Given the description of an element on the screen output the (x, y) to click on. 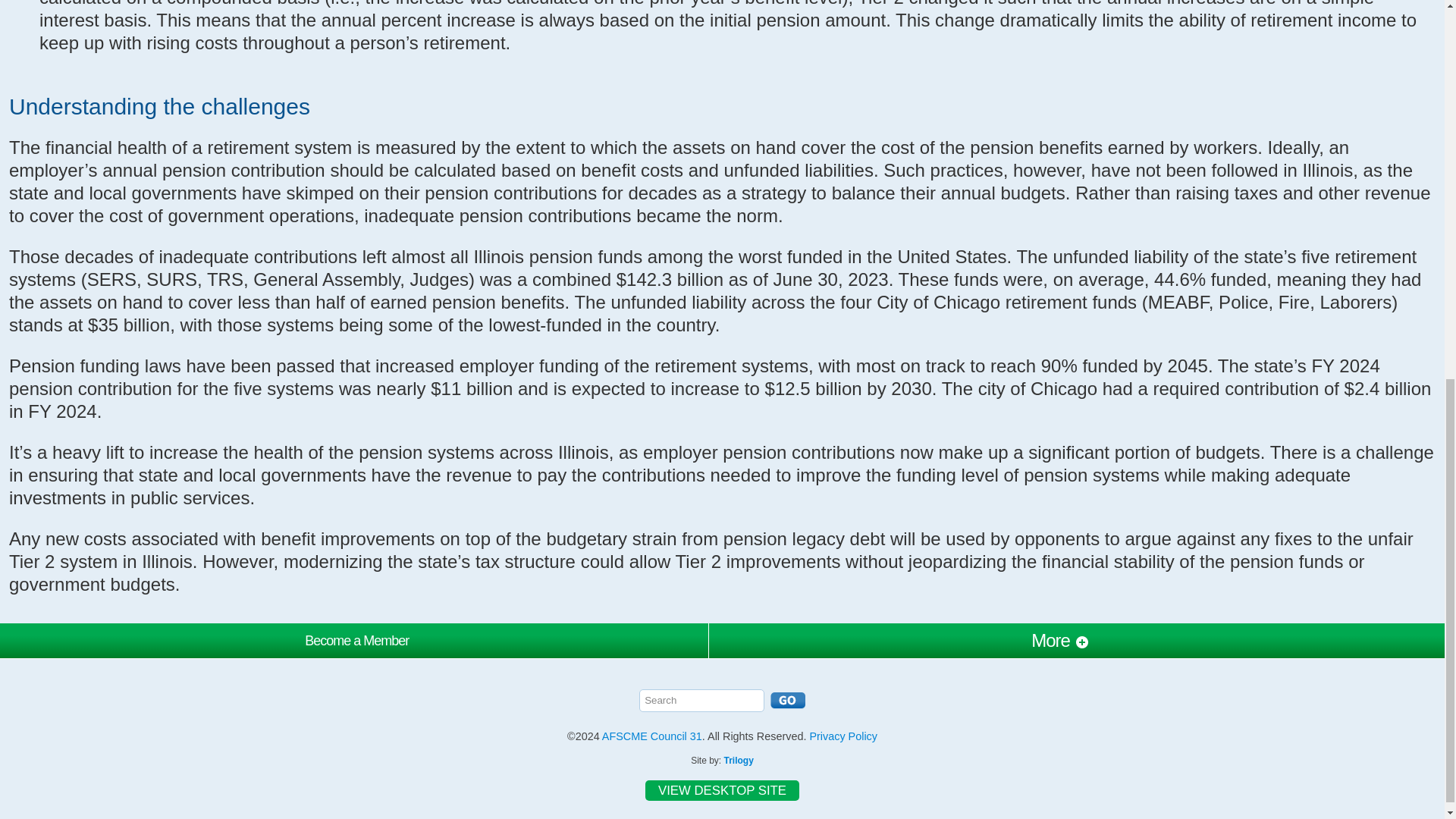
Become a Member (356, 640)
View Desktop Site (722, 790)
Become a Member (356, 640)
More (1059, 640)
Privacy Policy (843, 736)
Search (700, 700)
Trilogy (737, 760)
AFSCME Council 31 (651, 736)
Search (700, 700)
GO (787, 700)
